Given the description of an element on the screen output the (x, y) to click on. 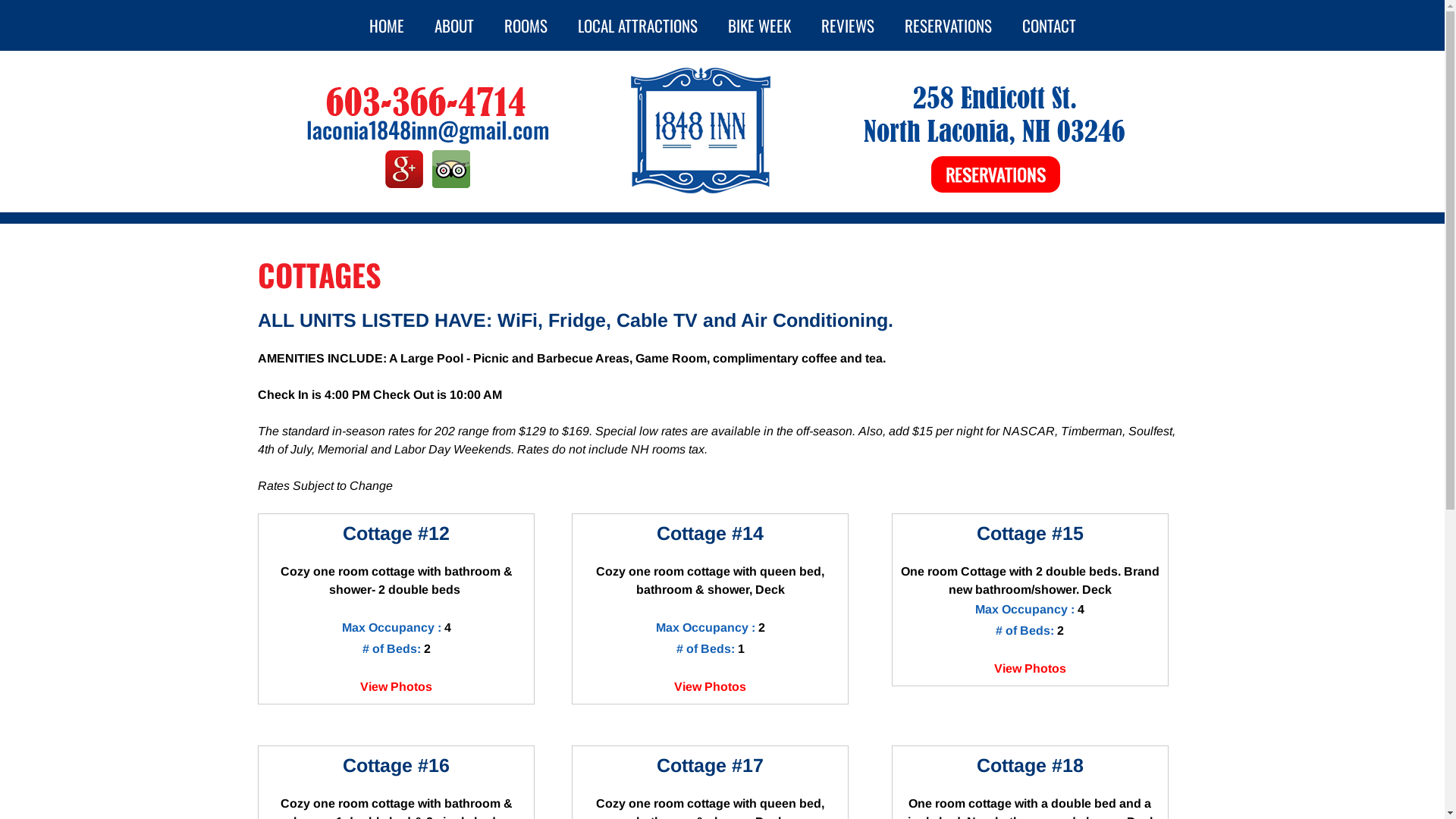
laconia1848inn@gmail.com Element type: text (427, 129)
View Photos Element type: text (396, 686)
HOME Element type: text (385, 25)
RESERVATIONS Element type: text (947, 25)
ABOUT Element type: text (453, 25)
BIKE WEEK Element type: text (759, 25)
ROOMS Element type: text (524, 25)
LOCAL ATTRACTIONS Element type: text (637, 25)
View Photos Element type: text (1029, 668)
REVIEWS Element type: text (846, 25)
View Photos Element type: text (710, 686)
CONTACT Element type: text (1048, 25)
